Given the description of an element on the screen output the (x, y) to click on. 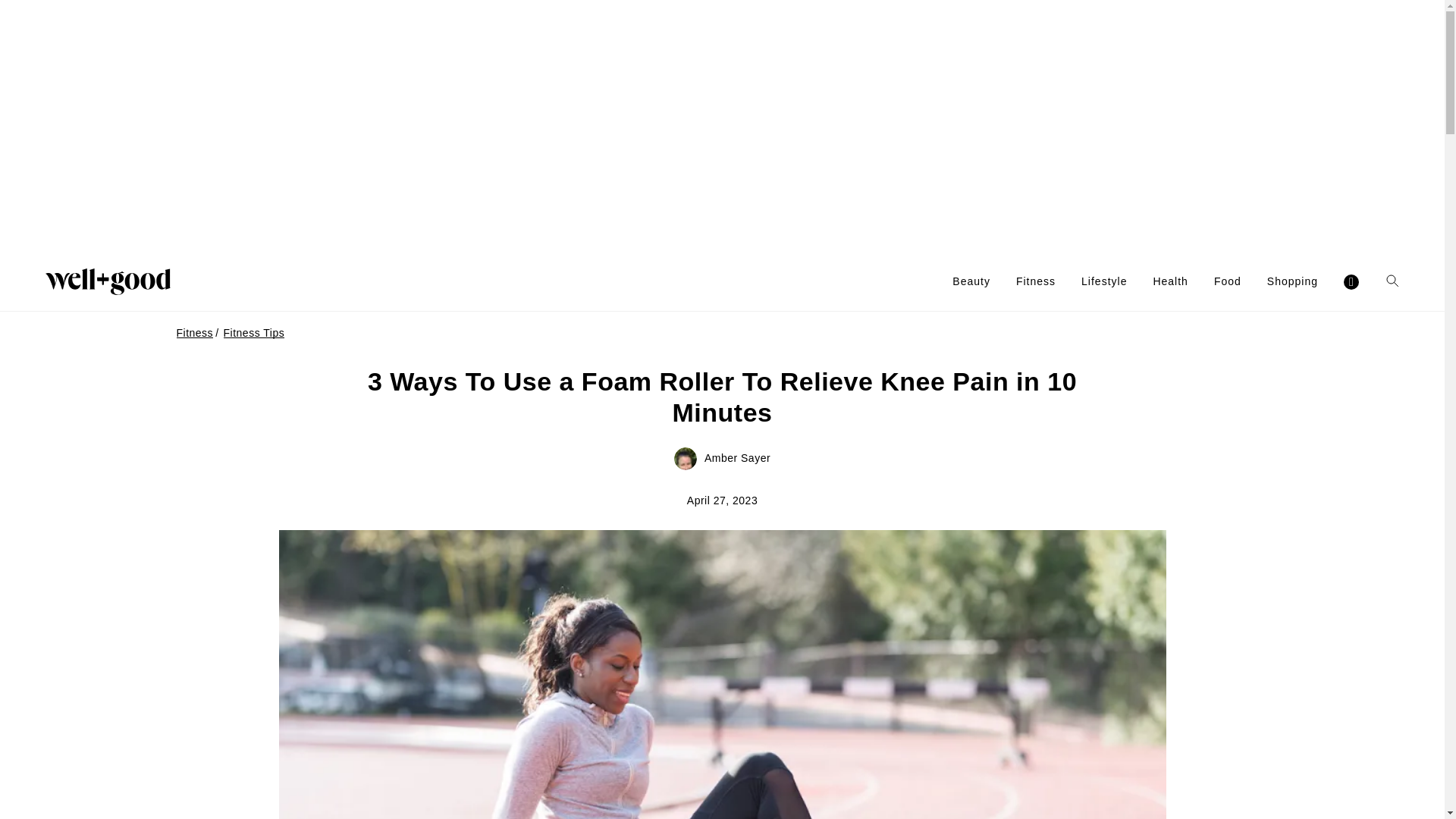
Shopping (1291, 281)
Lifestyle (1103, 281)
Health (1170, 281)
Fitness (1035, 281)
Food (1227, 281)
Beauty (971, 281)
